Given the description of an element on the screen output the (x, y) to click on. 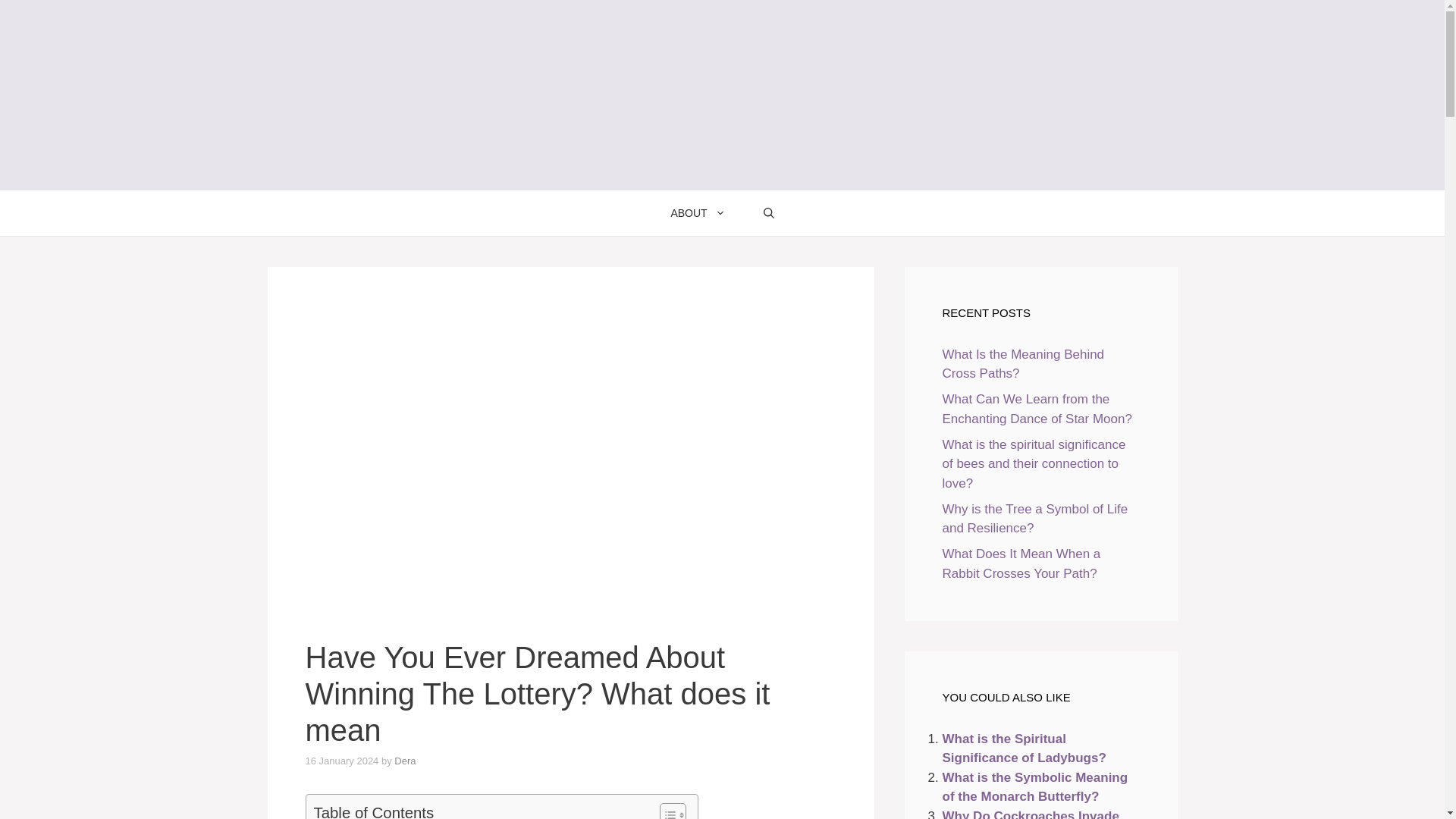
ABOUT (697, 212)
View all posts by Dera (404, 760)
Dera (404, 760)
